Given the description of an element on the screen output the (x, y) to click on. 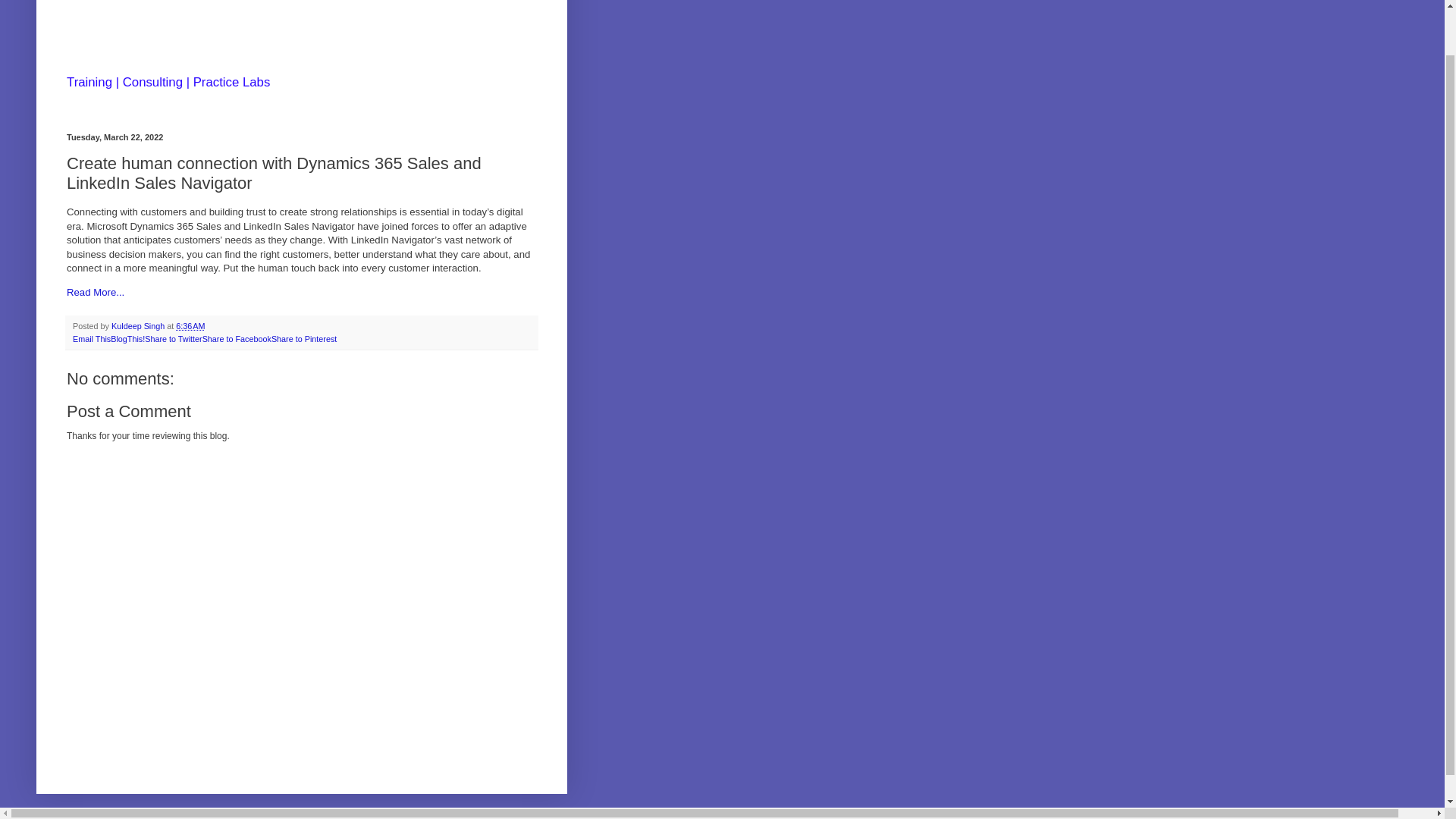
Share to Pinterest (303, 338)
BlogThis! (127, 338)
permanent link (190, 325)
Share to Facebook (236, 338)
Read More... (94, 292)
Email This (91, 338)
Share to Facebook (236, 338)
Email This (91, 338)
Share to Pinterest (303, 338)
Kuldeep Singh (139, 325)
